Given the description of an element on the screen output the (x, y) to click on. 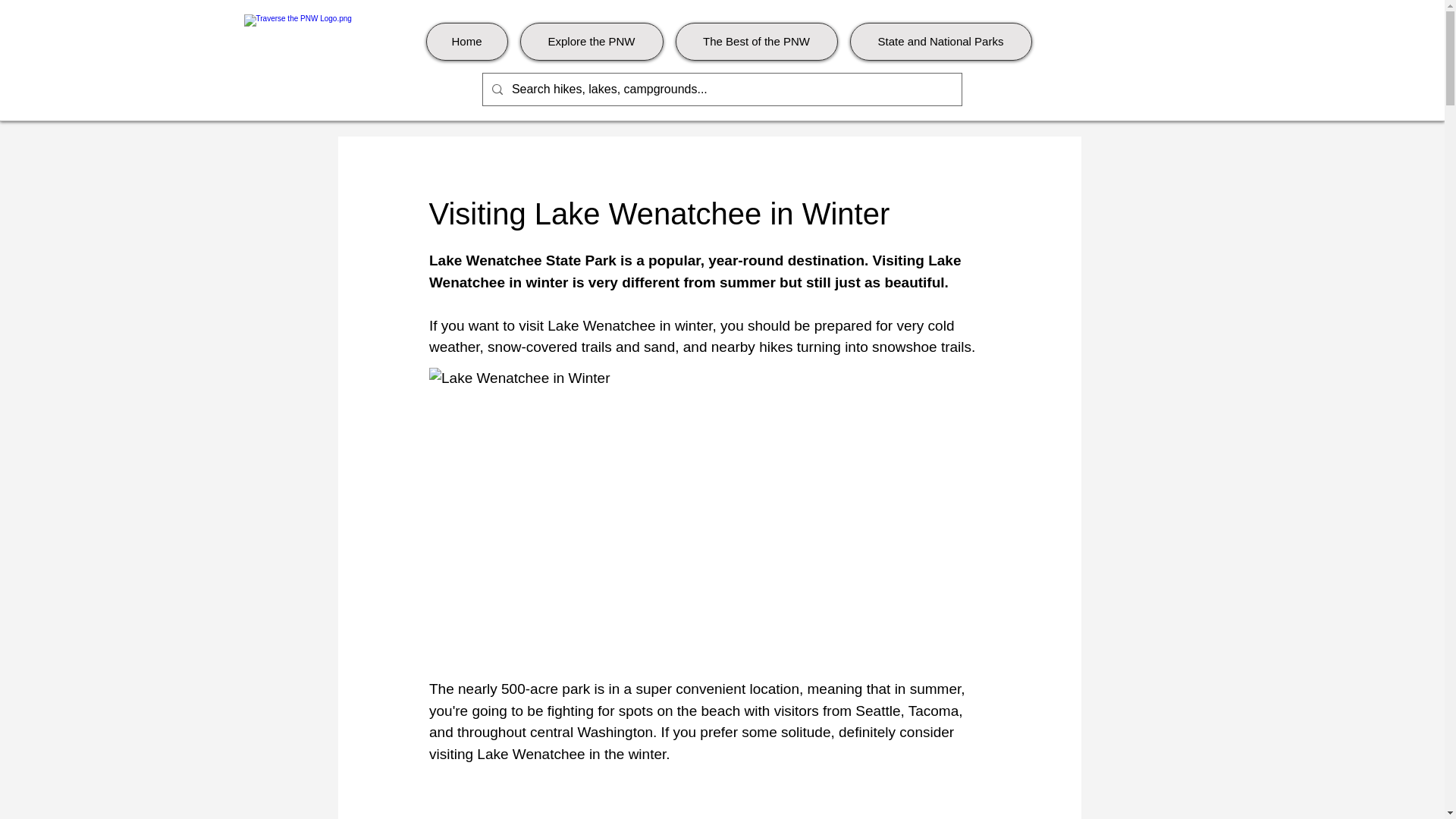
Explore the PNW (591, 41)
State and National Parks (939, 41)
Home (467, 41)
The Best of the PNW (756, 41)
